Given the description of an element on the screen output the (x, y) to click on. 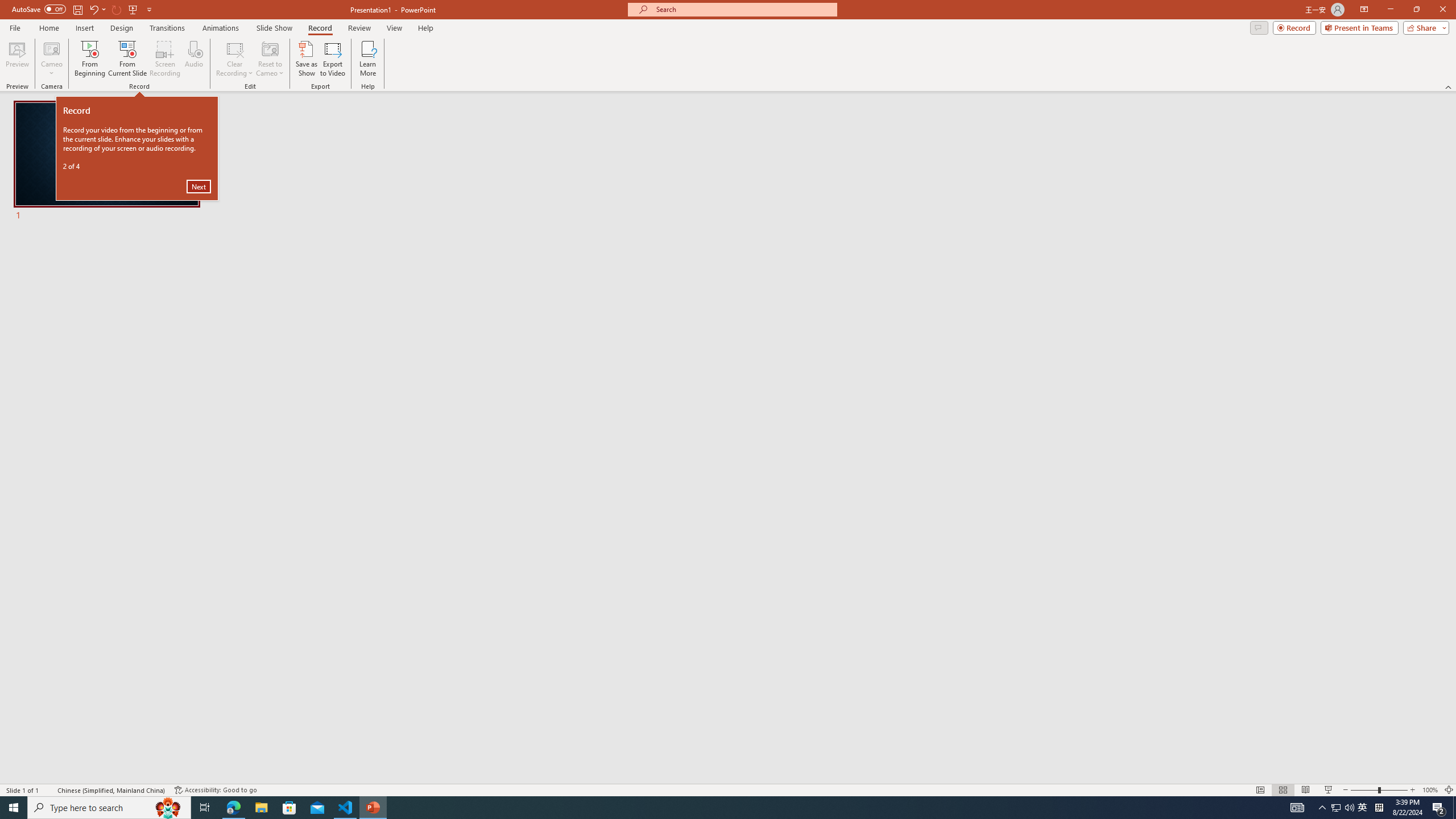
Collapse the Ribbon (1448, 86)
Microsoft Edge - 1 running window (233, 807)
Next (198, 186)
Save (77, 9)
File Tab (15, 27)
Zoom Out (1364, 790)
Minimize (1390, 9)
Zoom In (1412, 790)
Learn More (368, 58)
Redo (117, 9)
PowerPoint - 1 running window (373, 807)
